Given the description of an element on the screen output the (x, y) to click on. 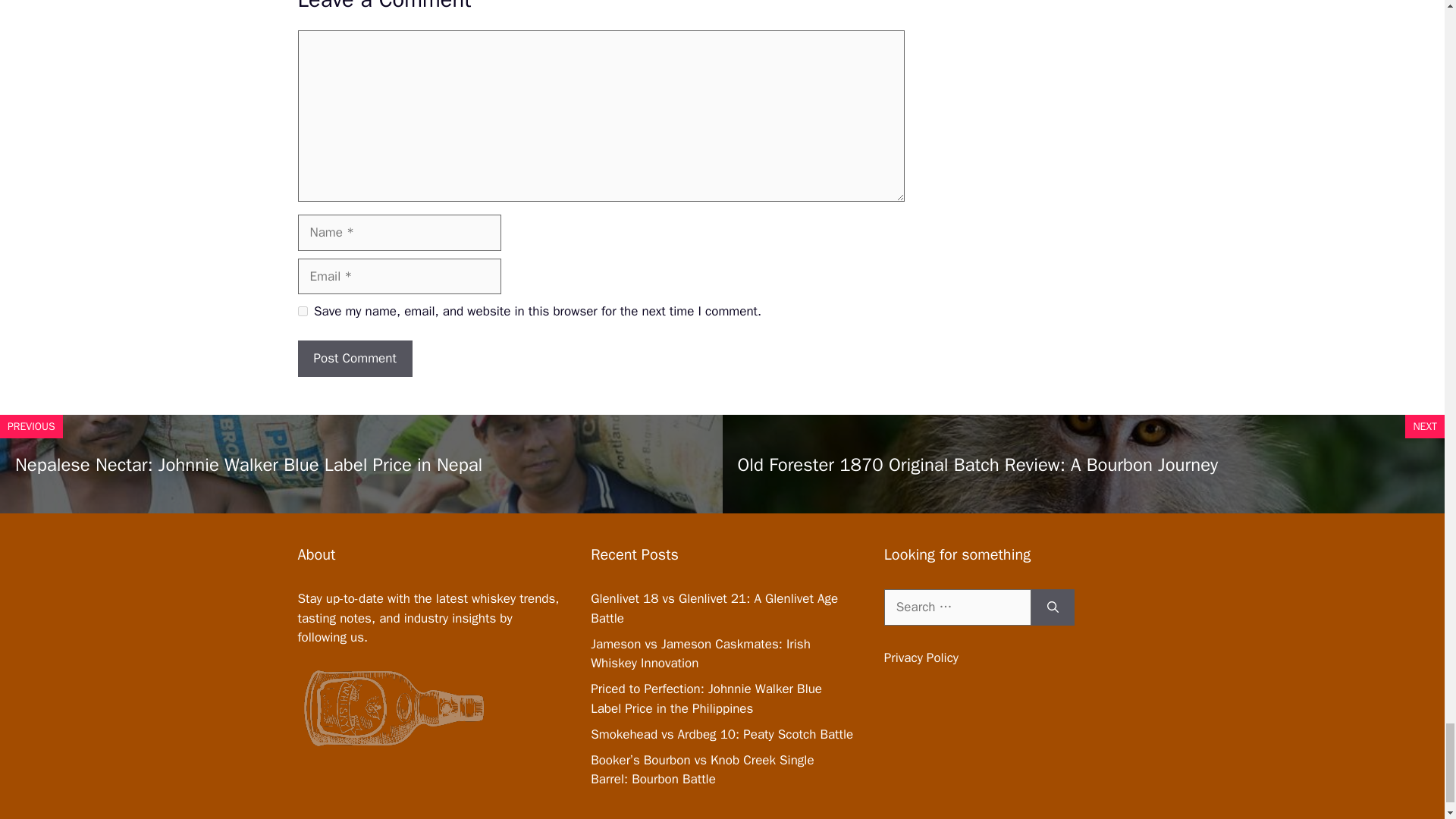
yes (302, 311)
Post Comment (354, 358)
Search for: (956, 606)
Post Comment (354, 358)
